Given the description of an element on the screen output the (x, y) to click on. 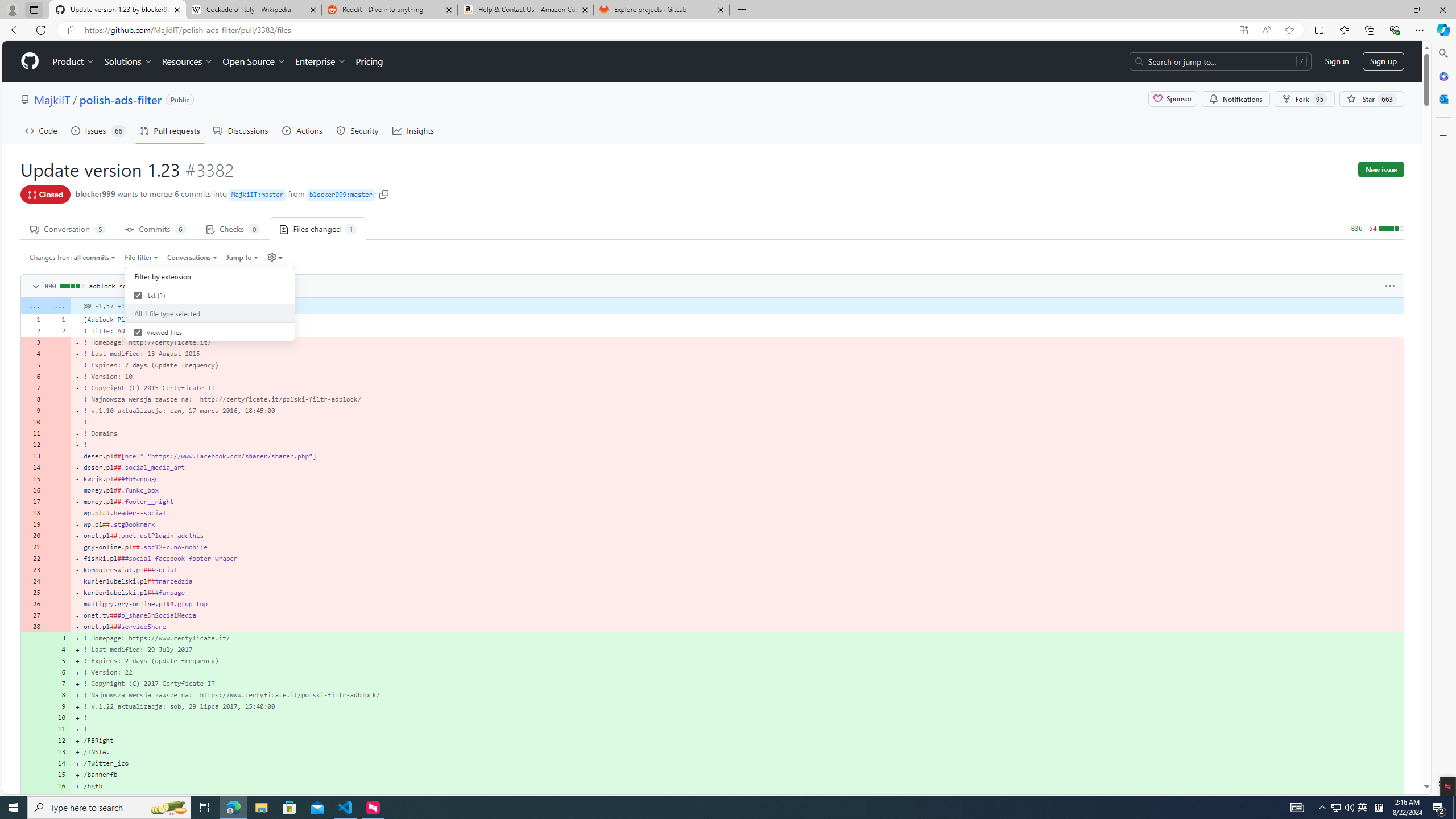
- ! (737, 444)
Fork 95 (1304, 98)
Show options (1390, 285)
11 (58, 728)
+ /Twitter_ico  (737, 763)
[Adblock Plus 2.0] (737, 319)
+ ! (737, 728)
17 (58, 797)
28 (33, 626)
+ ! Version: 22 (737, 672)
6 (58, 672)
